Given the description of an element on the screen output the (x, y) to click on. 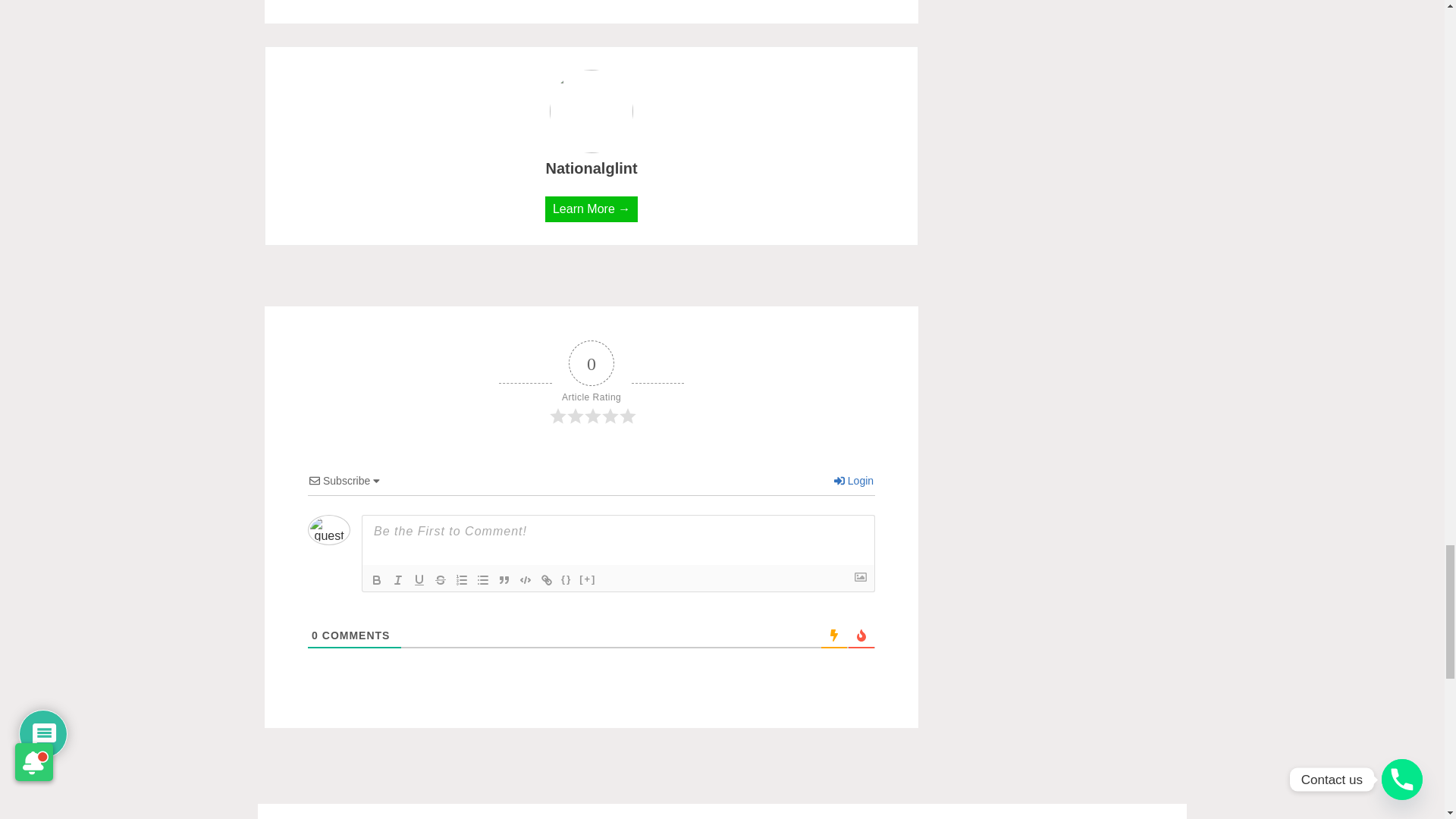
Underline (419, 579)
Italic (398, 579)
Code Block (525, 579)
Unordered List (482, 579)
Ordered List (461, 579)
Strike (440, 579)
Blockquote (504, 579)
Bold (376, 579)
Link (546, 579)
Source Code (566, 579)
